Given the description of an element on the screen output the (x, y) to click on. 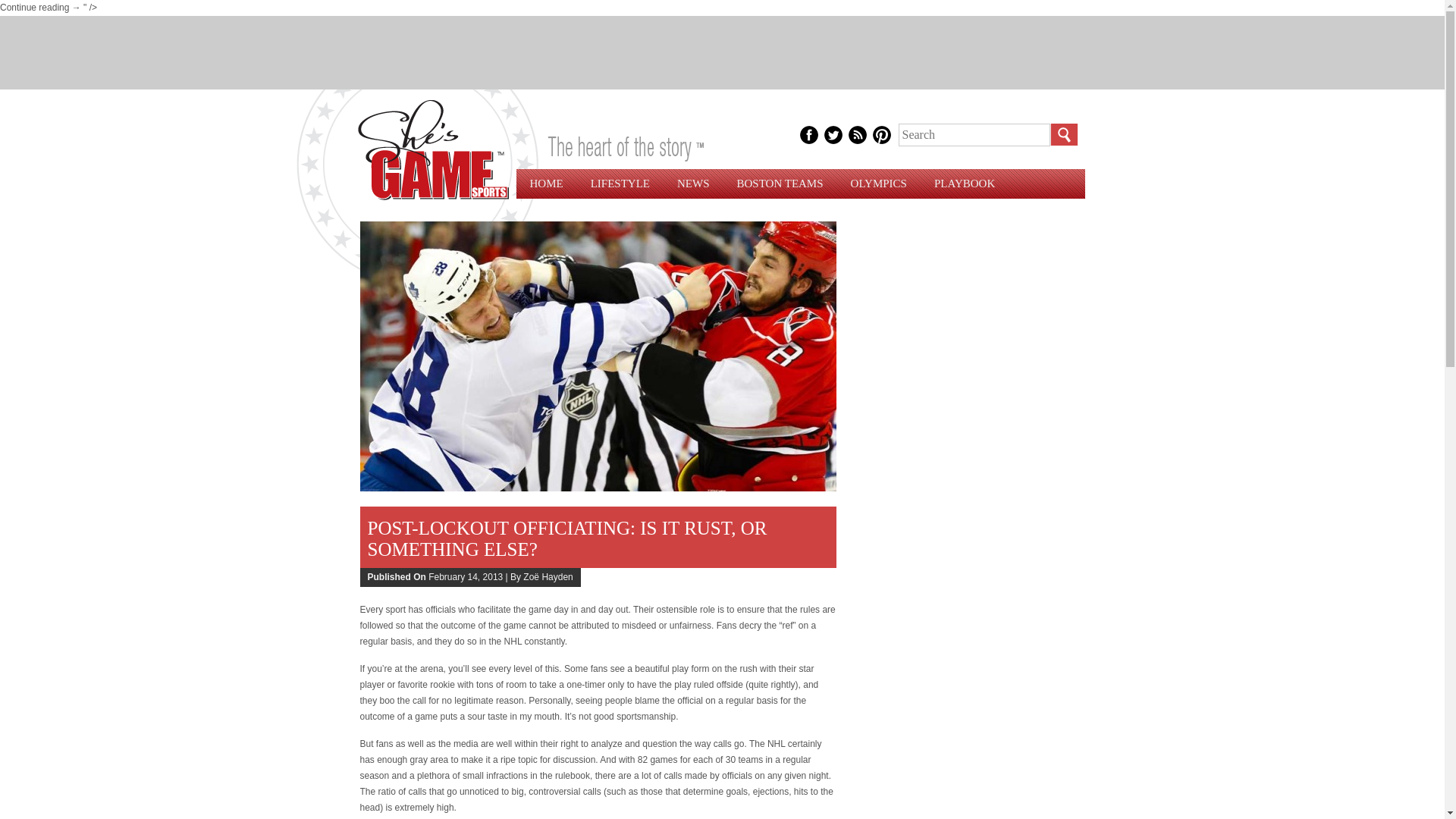
OLYMPICS (878, 183)
LIFESTYLE (619, 183)
BOSTON TEAMS (780, 183)
HOME (545, 183)
PLAYBOOK (964, 183)
Advertisement (721, 49)
SEARCH (1063, 134)
NEWS (693, 183)
